Given the description of an element on the screen output the (x, y) to click on. 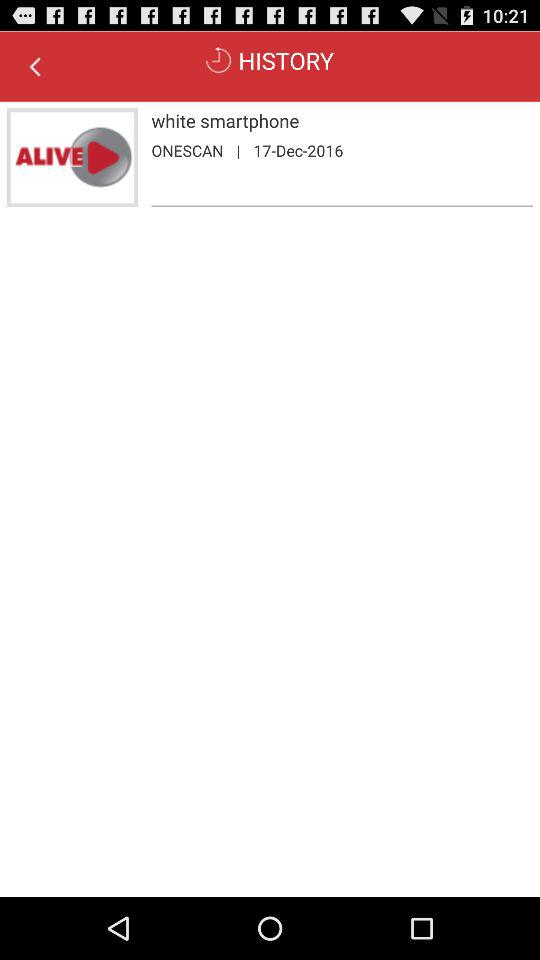
click the onescan (187, 150)
